Given the description of an element on the screen output the (x, y) to click on. 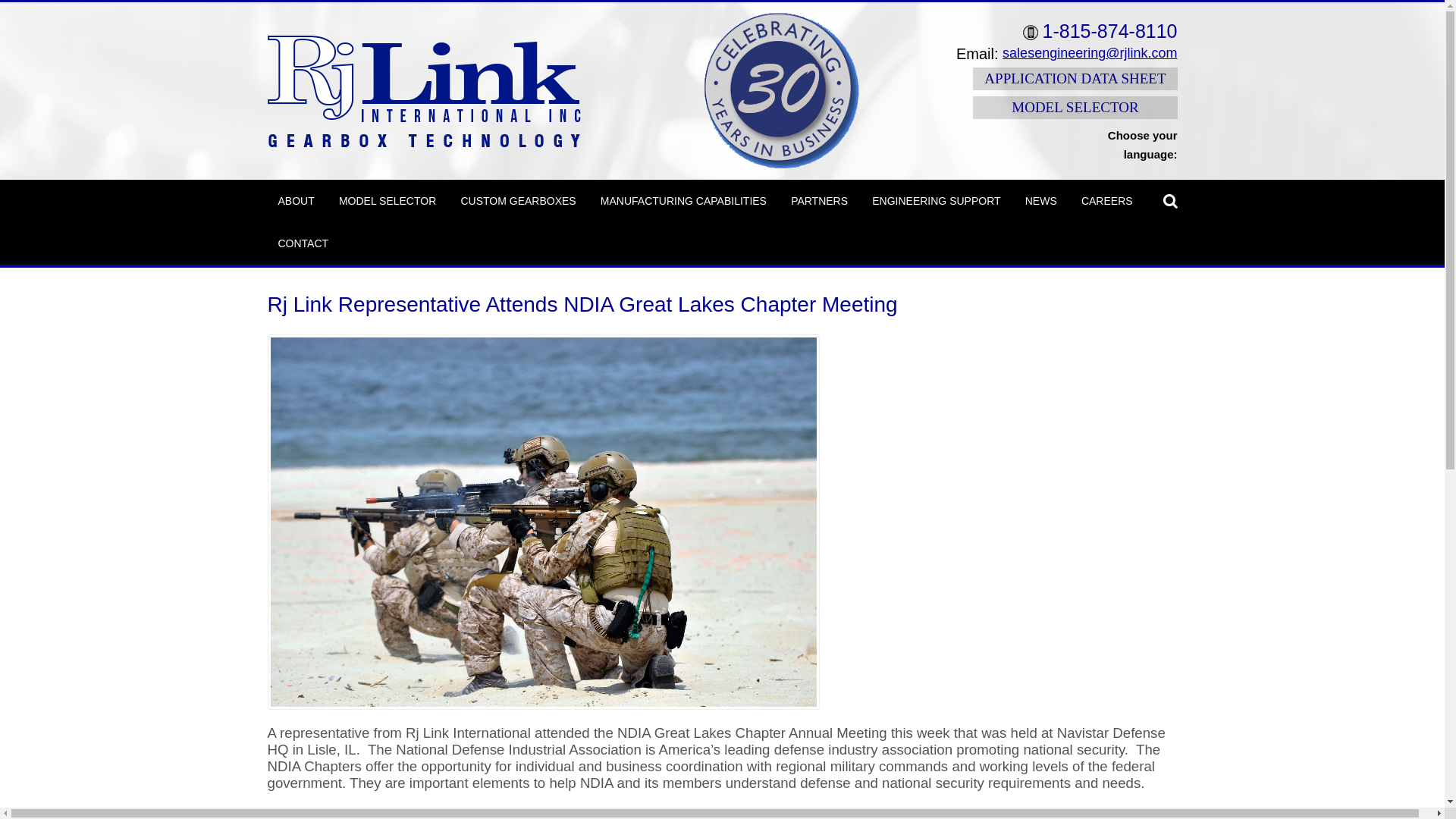
1-815-874-8110 (1100, 30)
APPLICATION DATA SHEET (1074, 78)
NEWS (1040, 200)
MANUFACTURING CAPABILITIES (683, 200)
CUSTOM GEARBOXES (517, 200)
PARTNERS (819, 200)
MODEL SELECTOR (387, 200)
CONTACT (302, 242)
ABOUT (295, 200)
CAREERS (1106, 200)
